Given the description of an element on the screen output the (x, y) to click on. 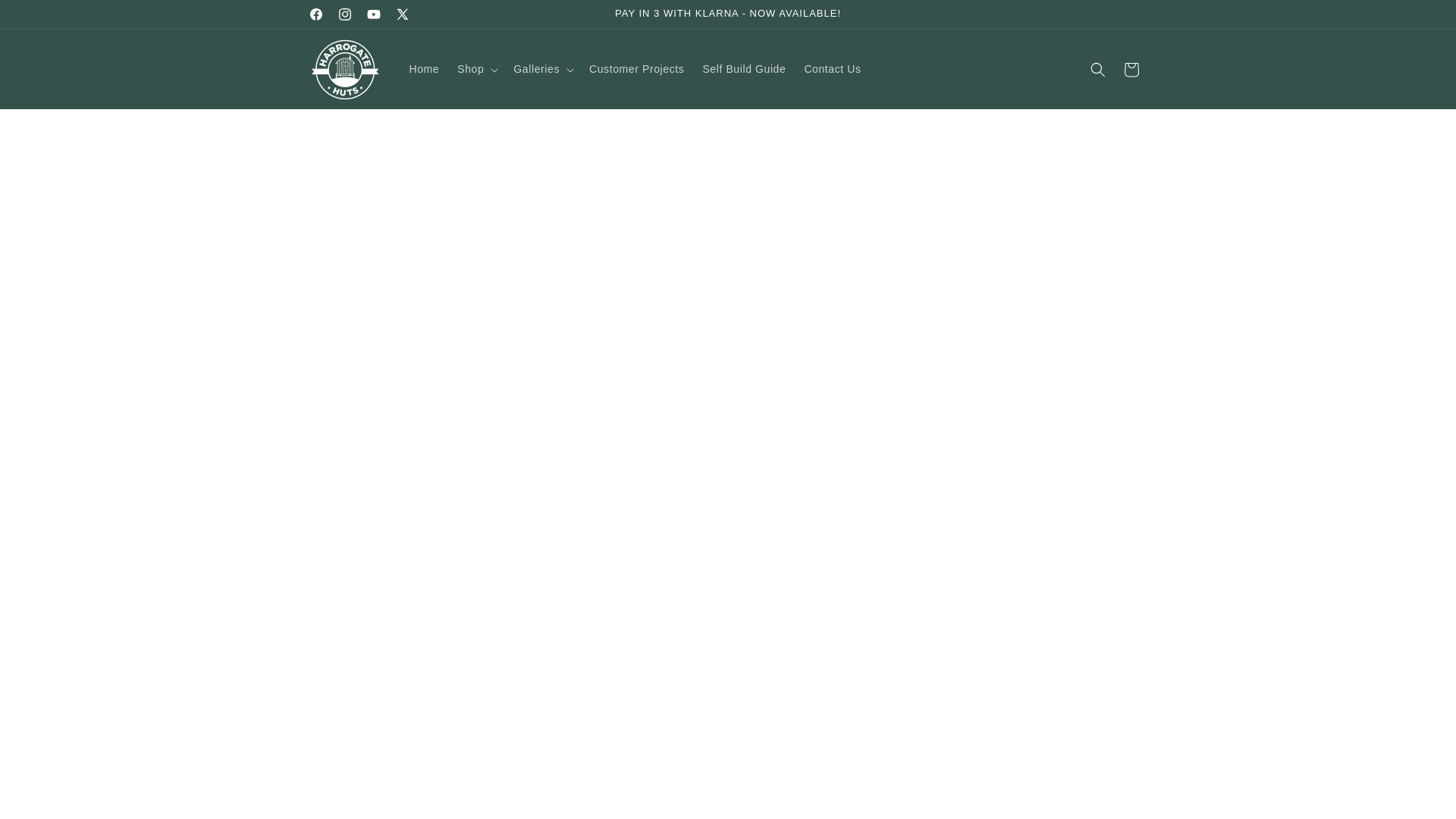
YouTube (373, 14)
Instagram (344, 14)
Contact Us (831, 69)
Skip to content (45, 17)
Customer Projects (636, 69)
Home (424, 69)
Facebook (315, 14)
Self Build Guide (743, 69)
